Given the description of an element on the screen output the (x, y) to click on. 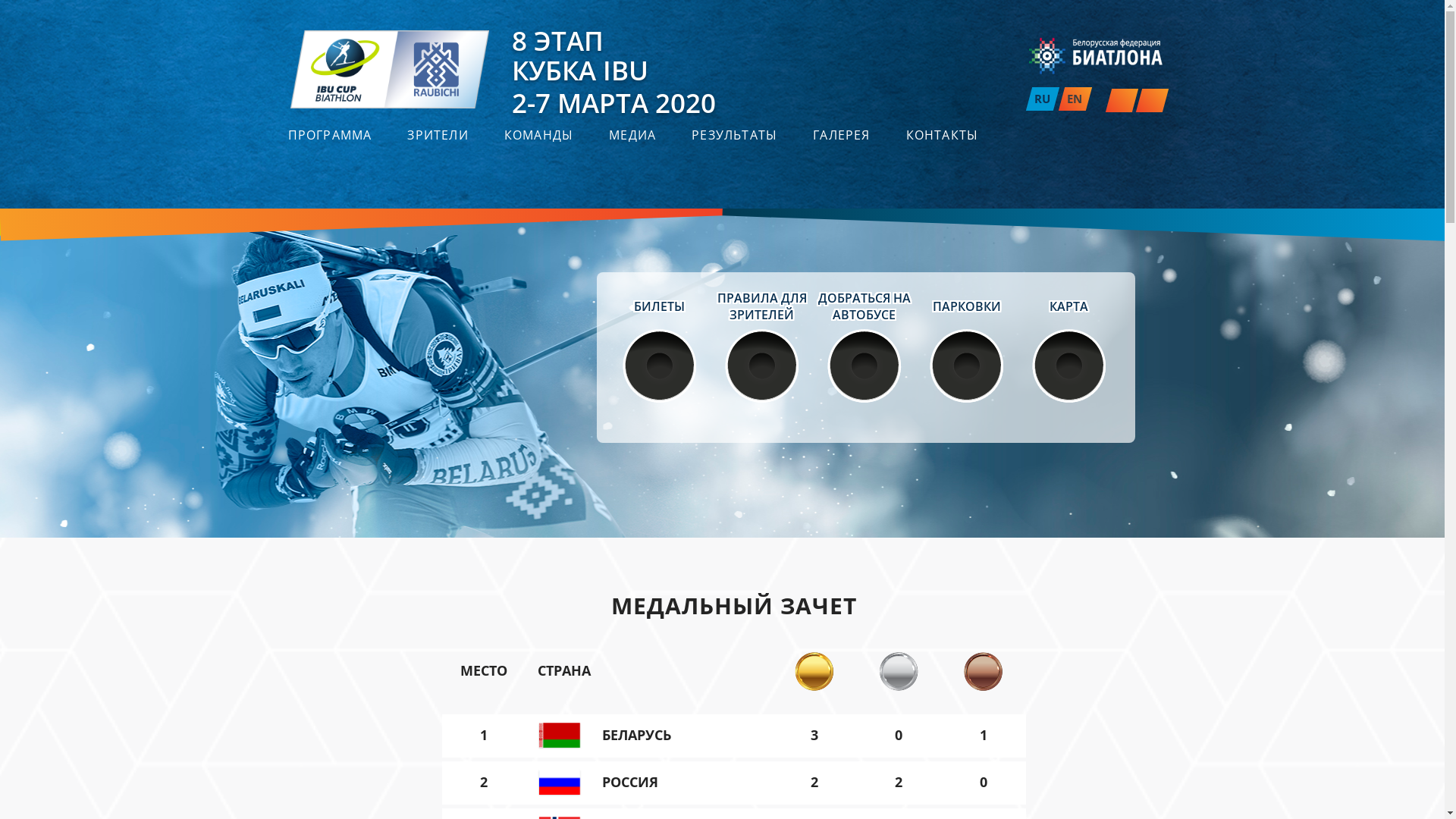
IBU Cup Biathlon Raubichi Element type: hover (722, 369)
vk Element type: hover (1148, 99)
EN Element type: text (1074, 98)
instagram Element type: hover (1118, 99)
RU Element type: text (1042, 98)
